Given the description of an element on the screen output the (x, y) to click on. 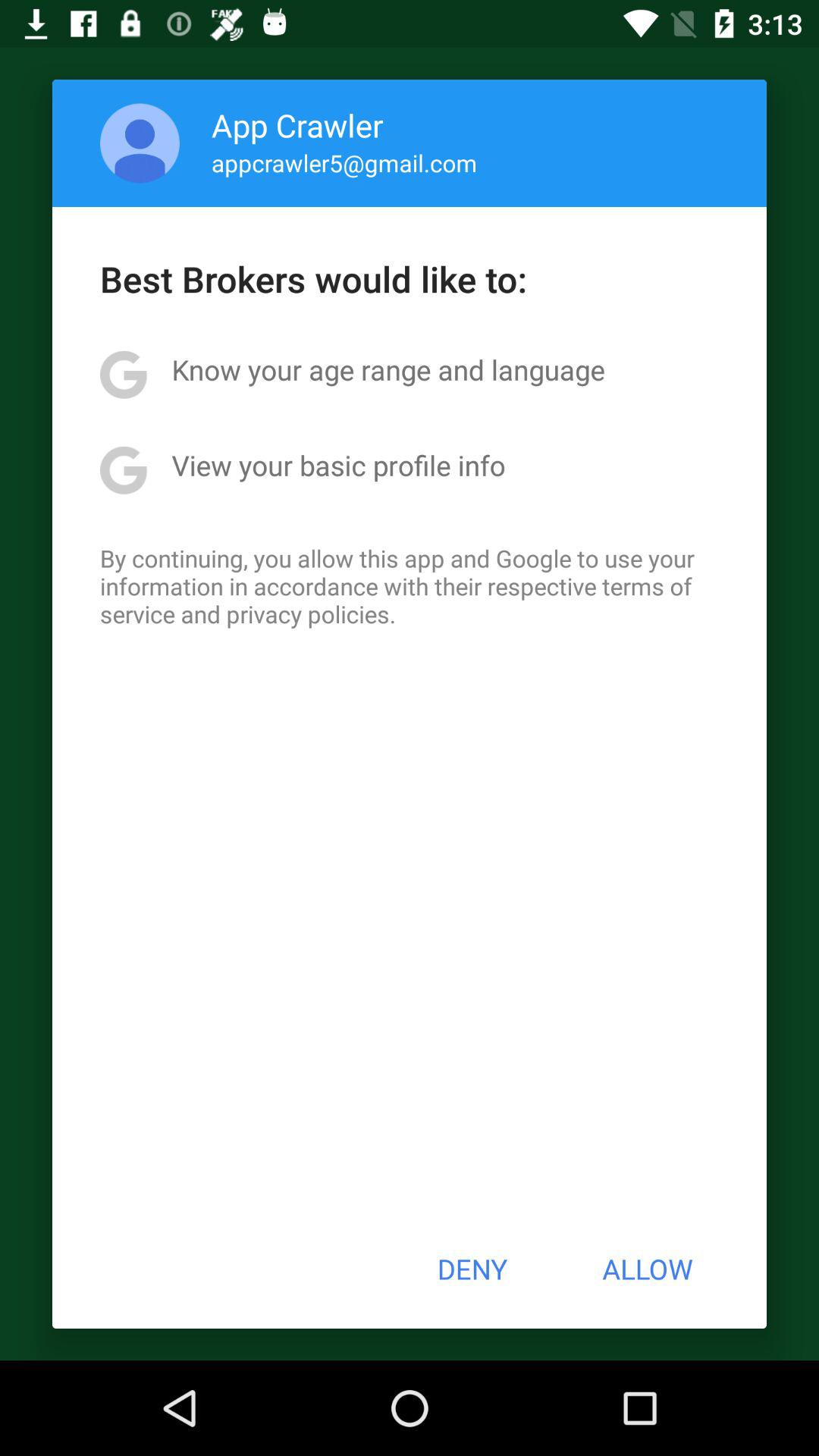
turn off the icon below by continuing you app (471, 1268)
